Given the description of an element on the screen output the (x, y) to click on. 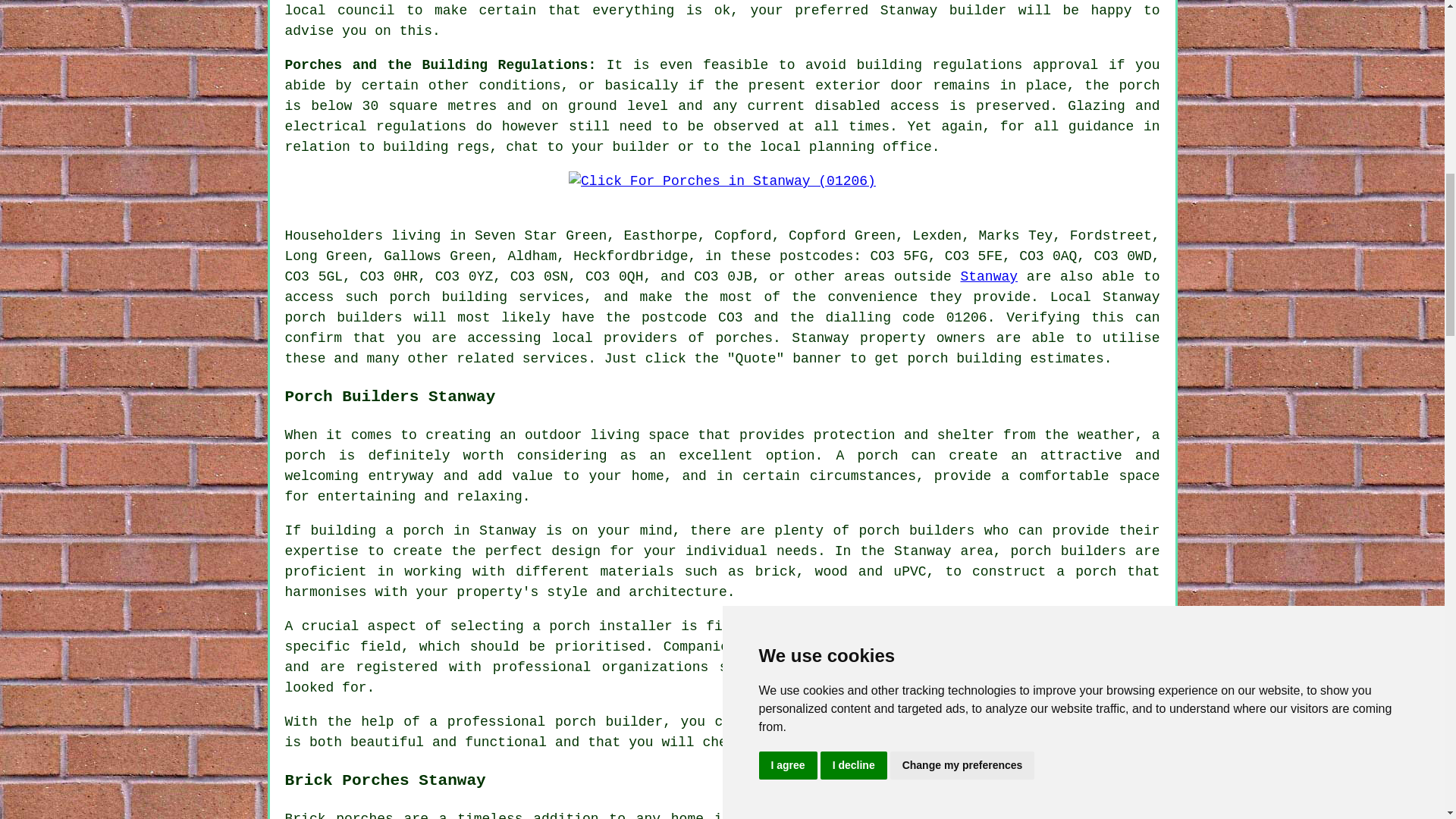
porch (927, 358)
porches (896, 815)
porch builders (917, 530)
porches (743, 337)
porch (305, 317)
